Given the description of an element on the screen output the (x, y) to click on. 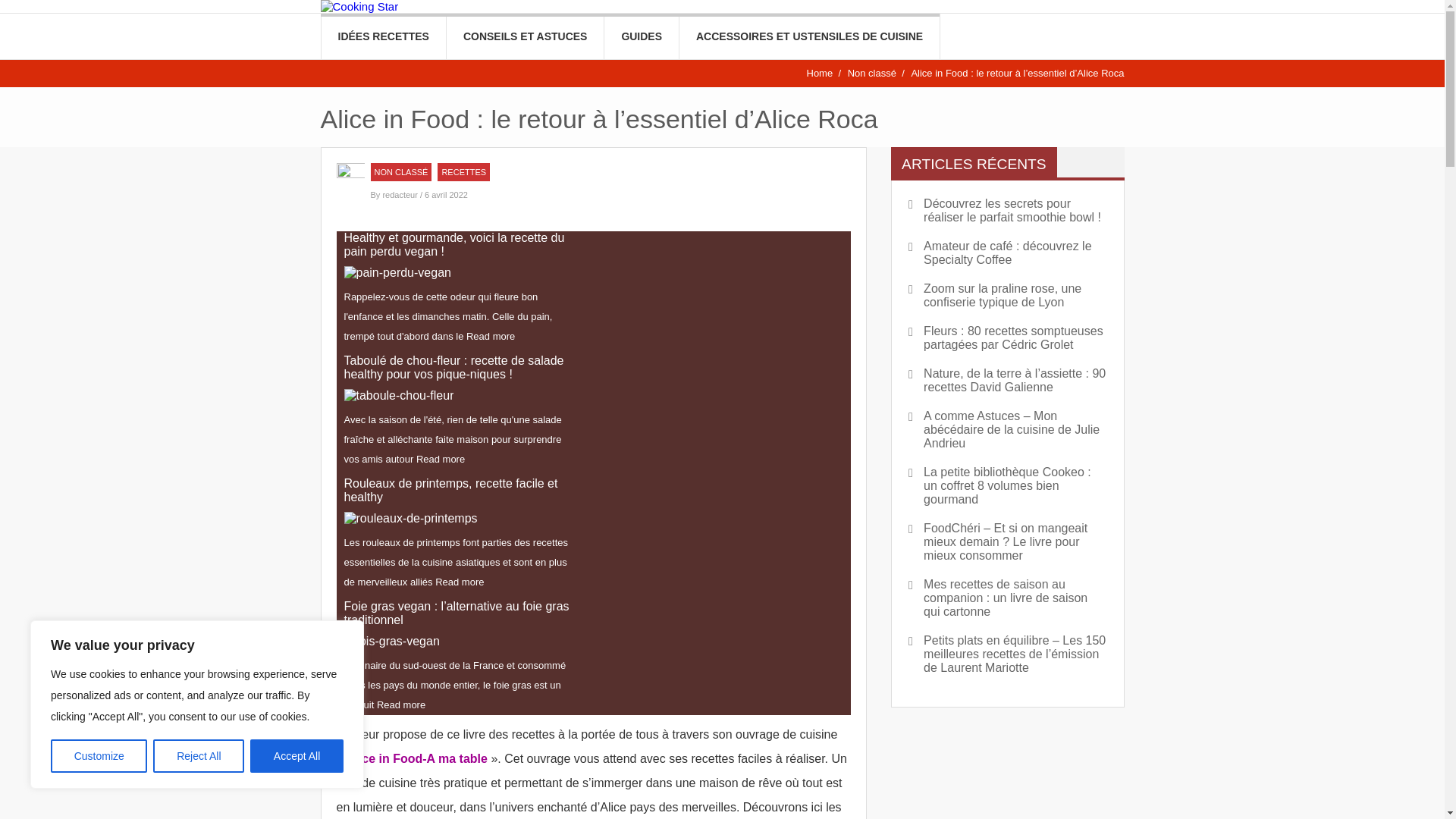
Read more Element type: text (490, 336)
Home  /  Element type: text (825, 72)
Healthy et gourmande, voici la recette du pain perdu vegan ! Element type: hover (397, 272)
Rouleaux de printemps, recette facile et healthy Element type: text (459, 490)
redacteur Element type: text (401, 194)
Rouleaux de printemps, recette facile et healthy Element type: hover (410, 517)
ACCESSOIRES ET USTENSILES DE CUISINE Element type: text (809, 36)
Zoom sur la praline rose, une confiserie typique de Lyon Element type: text (1007, 295)
Accept All Element type: text (296, 755)
Read more Element type: text (400, 704)
GUIDES Element type: text (641, 36)
Healthy et gourmande, voici la recette du pain perdu vegan ! Element type: text (459, 244)
Read more Element type: text (440, 458)
Customize Element type: text (98, 755)
Read more Element type: text (459, 581)
RECETTES Element type: text (463, 171)
CONSEILS ET ASTUCES Element type: text (524, 36)
Reject All Element type: text (198, 755)
Alice in Food-A ma table Element type: text (416, 758)
